Given the description of an element on the screen output the (x, y) to click on. 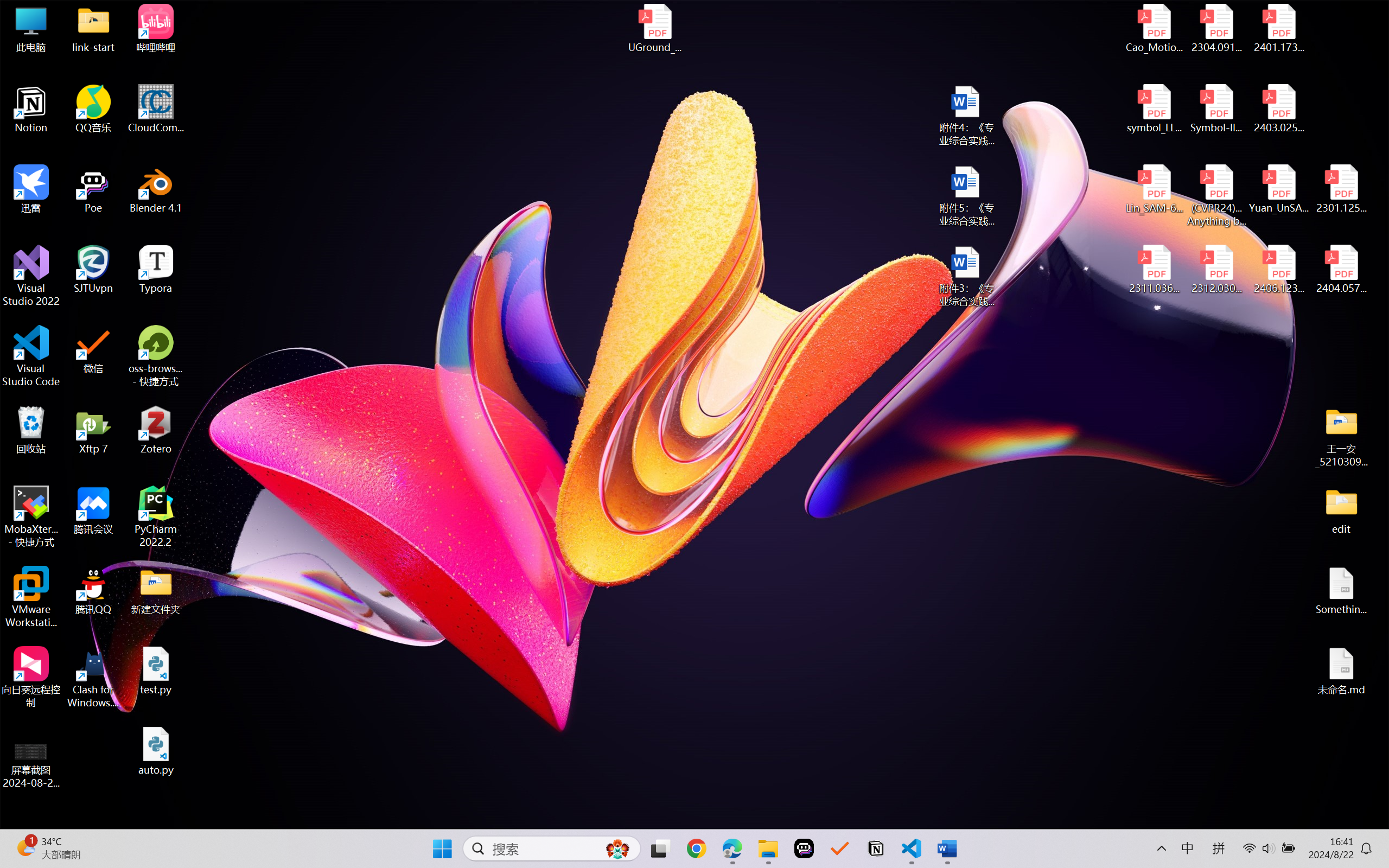
2406.12373v2.pdf (1278, 269)
2404.05719v1.pdf (1340, 269)
2304.09121v3.pdf (1216, 28)
SJTUvpn (93, 269)
Xftp 7 (93, 430)
2301.12597v3.pdf (1340, 189)
Typora (156, 269)
2312.03032v2.pdf (1216, 269)
Symbol-llm-v2.pdf (1216, 109)
